Given the description of an element on the screen output the (x, y) to click on. 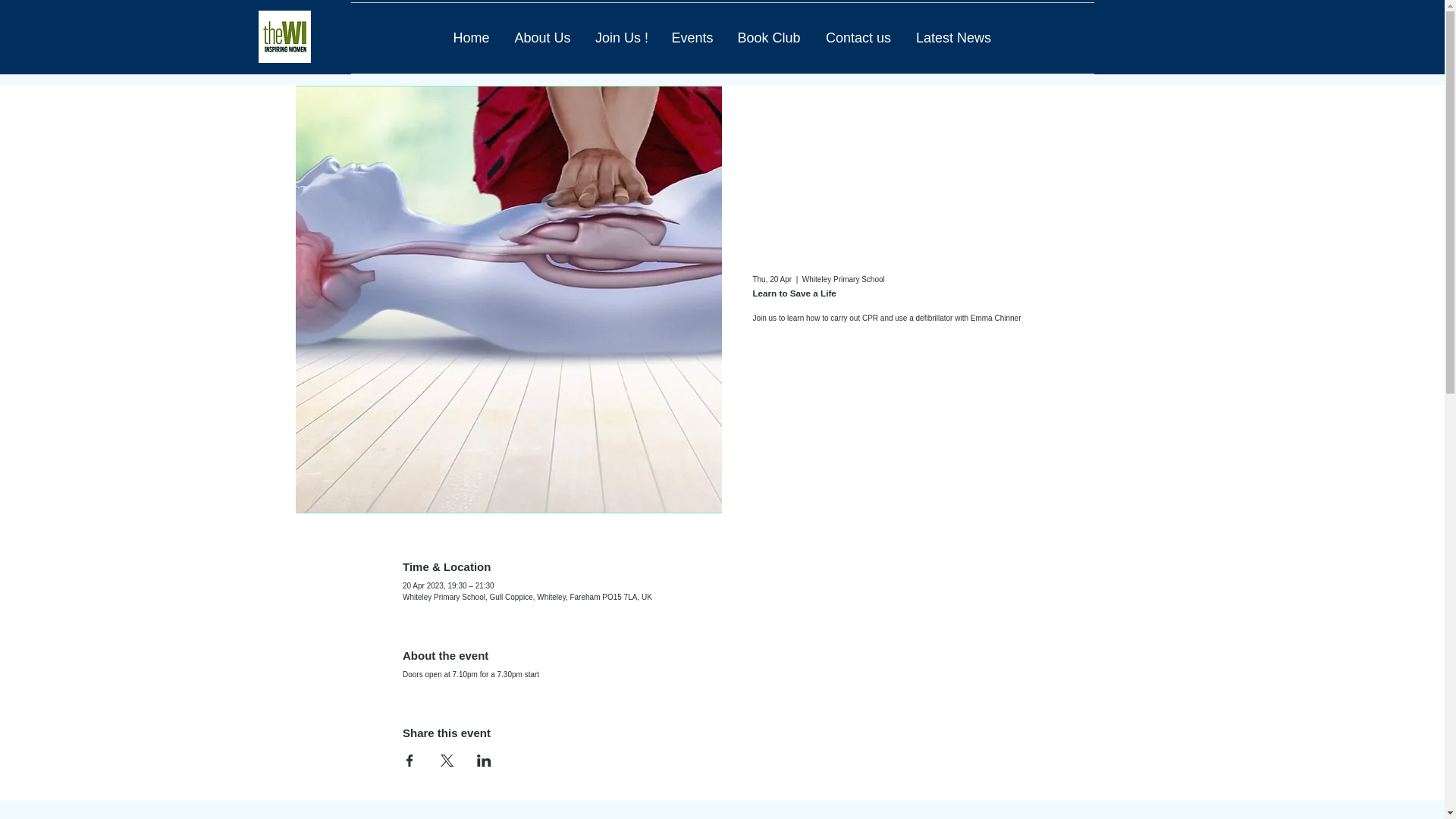
About Us (542, 38)
Contact us (857, 38)
Join Us ! (622, 38)
Latest News (954, 38)
Events (691, 38)
Book Club (769, 38)
